Given the description of an element on the screen output the (x, y) to click on. 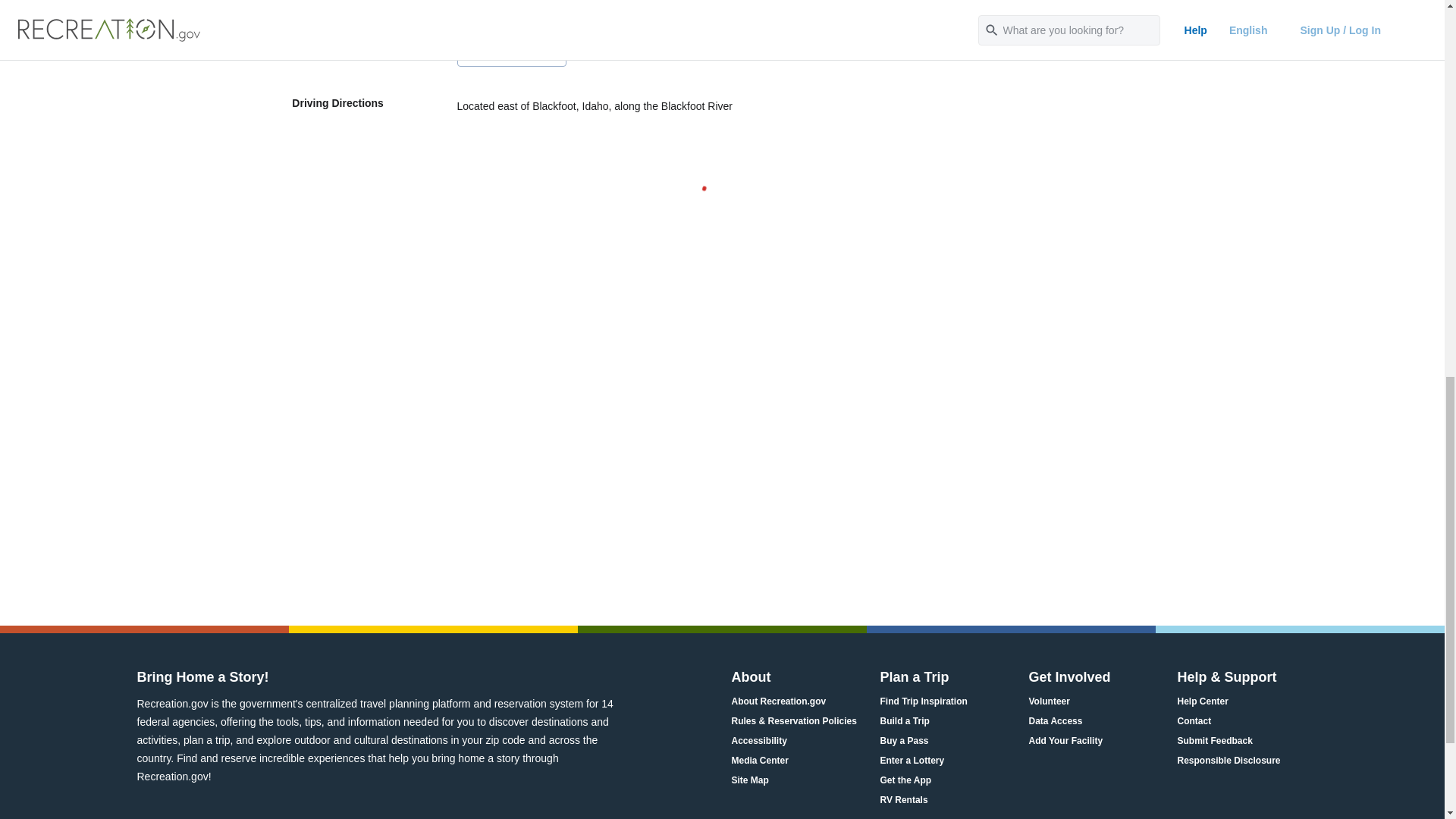
Build a Trip (903, 721)
Contact (1193, 721)
Copy to Clipboard (511, 54)
Find Trip Inspiration (922, 701)
Buy a Pass (903, 741)
Help Center (1201, 701)
Get the App (905, 780)
RV Rentals (903, 800)
Accessibility (758, 741)
About Recreation.gov (777, 701)
